Given the description of an element on the screen output the (x, y) to click on. 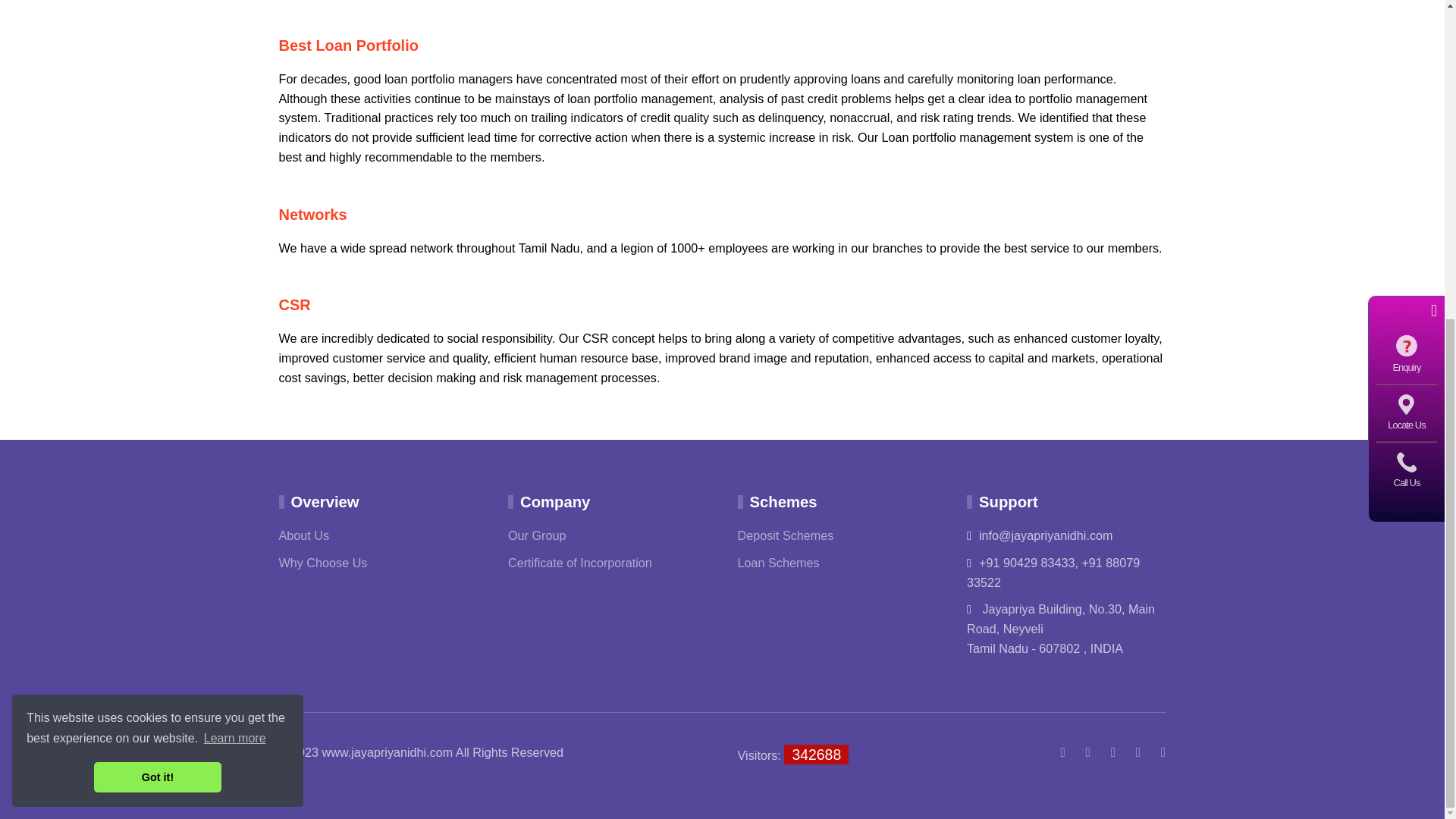
Learn more (234, 220)
Got it! (157, 259)
About Us (304, 535)
Our Group (537, 535)
Certificate of Incorporation (580, 562)
Why Choose Us (323, 562)
